Given the description of an element on the screen output the (x, y) to click on. 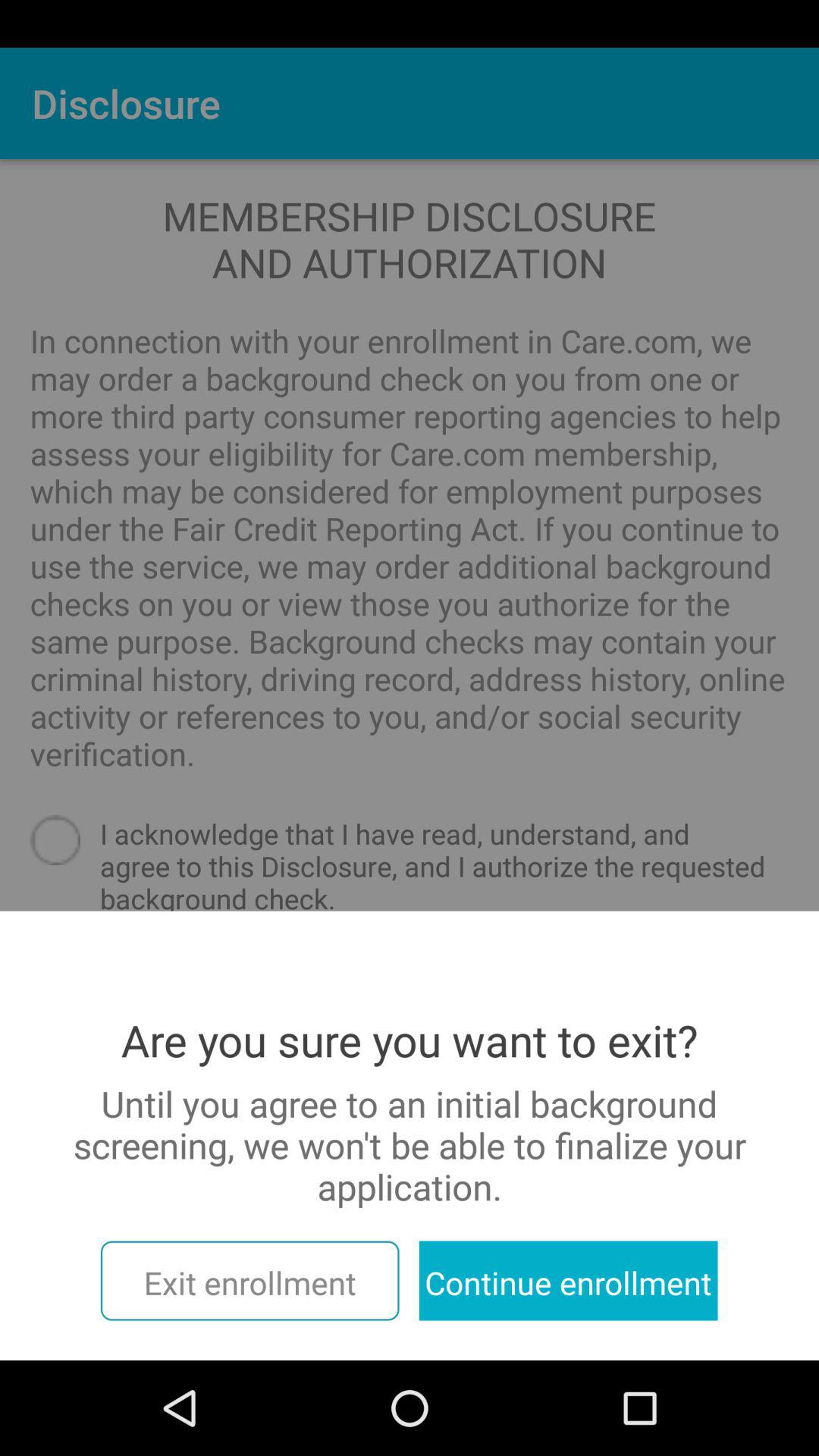
choose the item next to the continue enrollment icon (249, 1280)
